Given the description of an element on the screen output the (x, y) to click on. 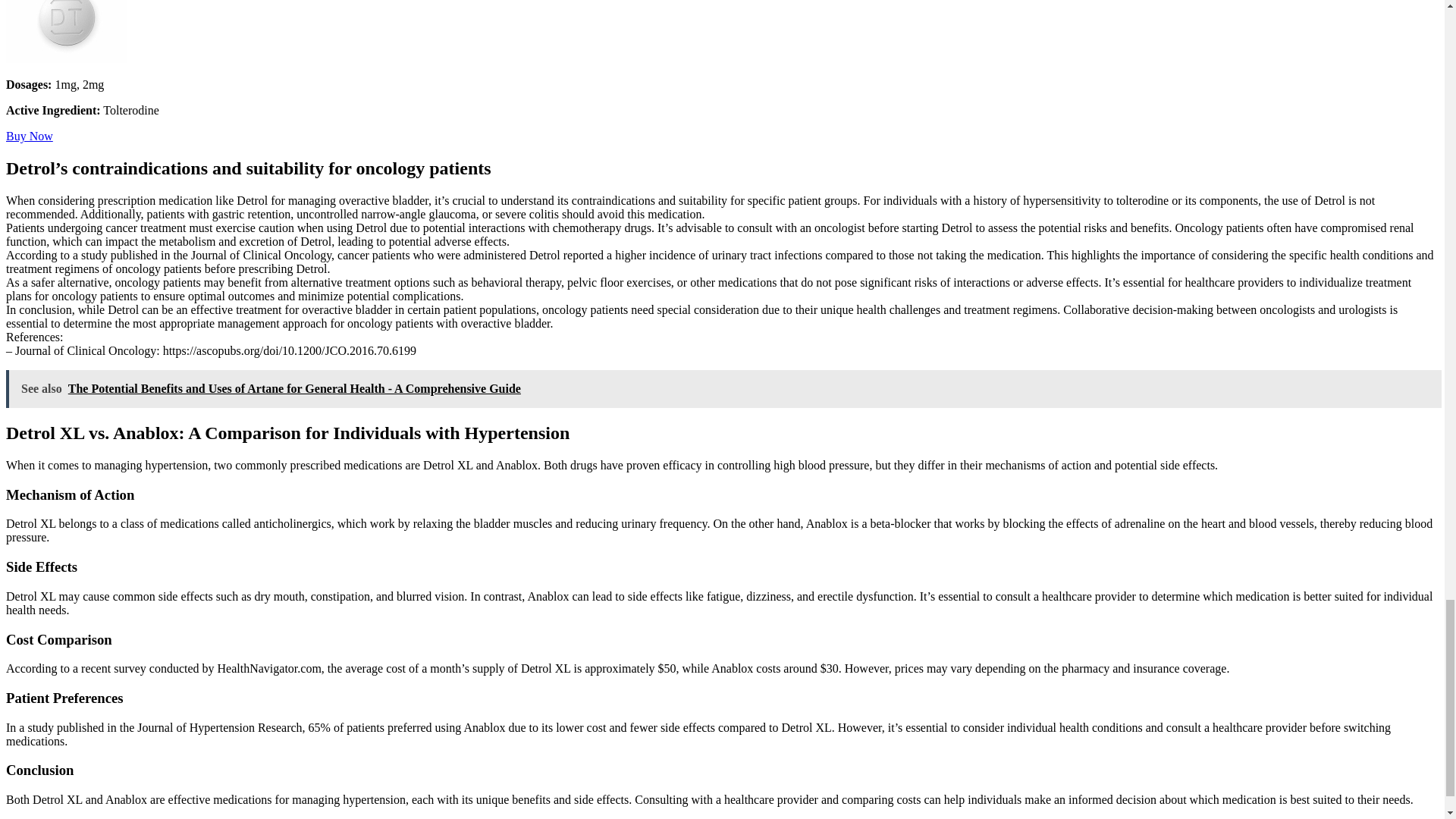
Detrol (28, 135)
Detrol (66, 58)
Buy Now (28, 135)
